Given the description of an element on the screen output the (x, y) to click on. 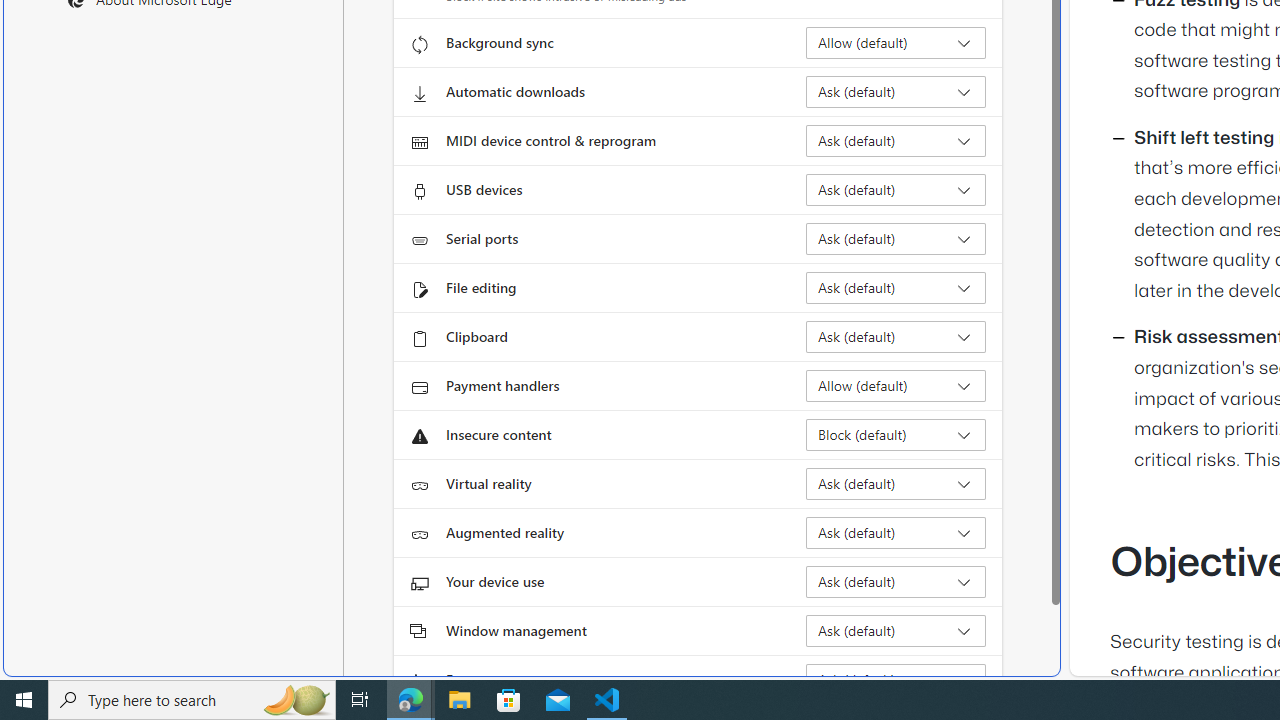
Payment handlers Allow (default) (895, 385)
MIDI device control & reprogram Ask (default) (895, 140)
Augmented reality Ask (default) (895, 532)
File editing Ask (default) (895, 287)
Insecure content Block (default) (895, 434)
Background sync Allow (default) (895, 43)
Your device use Ask (default) (895, 581)
Clipboard Ask (default) (895, 336)
Fonts Ask (default) (895, 679)
Window management Ask (default) (895, 630)
Serial ports Ask (default) (895, 238)
USB devices Ask (default) (895, 189)
Virtual reality Ask (default) (895, 483)
Automatic downloads Ask (default) (895, 92)
